Given the description of an element on the screen output the (x, y) to click on. 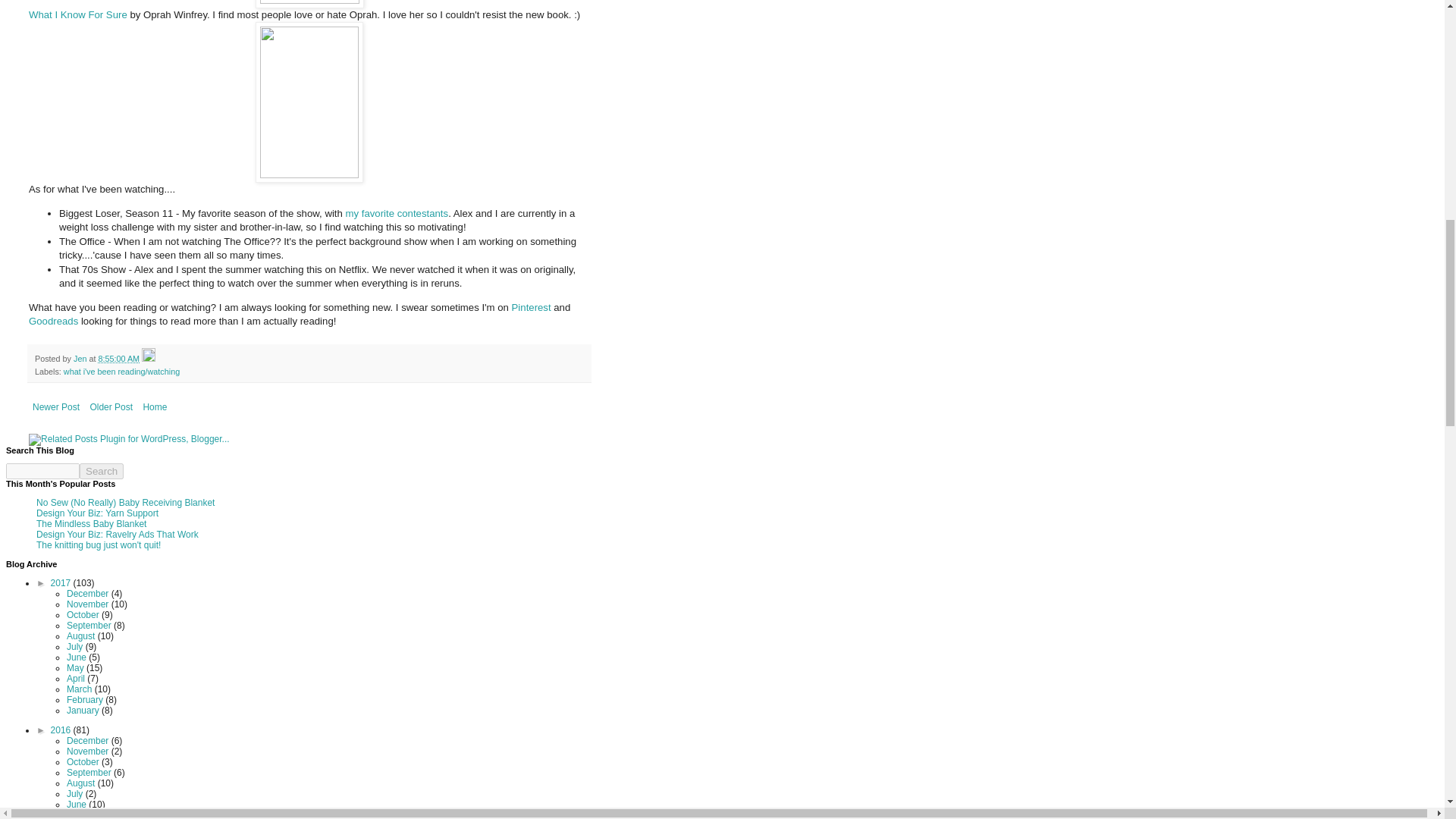
August (81, 635)
Search (101, 471)
October (83, 614)
Jen (81, 358)
Design Your Biz: Ravelry Ads That Work (117, 534)
The Mindless Baby Blanket (91, 523)
Newer Post (55, 407)
2017 (62, 583)
Home (154, 407)
Goodreads (53, 320)
What I Know For Sure (78, 14)
Edit Post (148, 358)
search (42, 471)
Search (101, 471)
Older Post (110, 407)
